Given the description of an element on the screen output the (x, y) to click on. 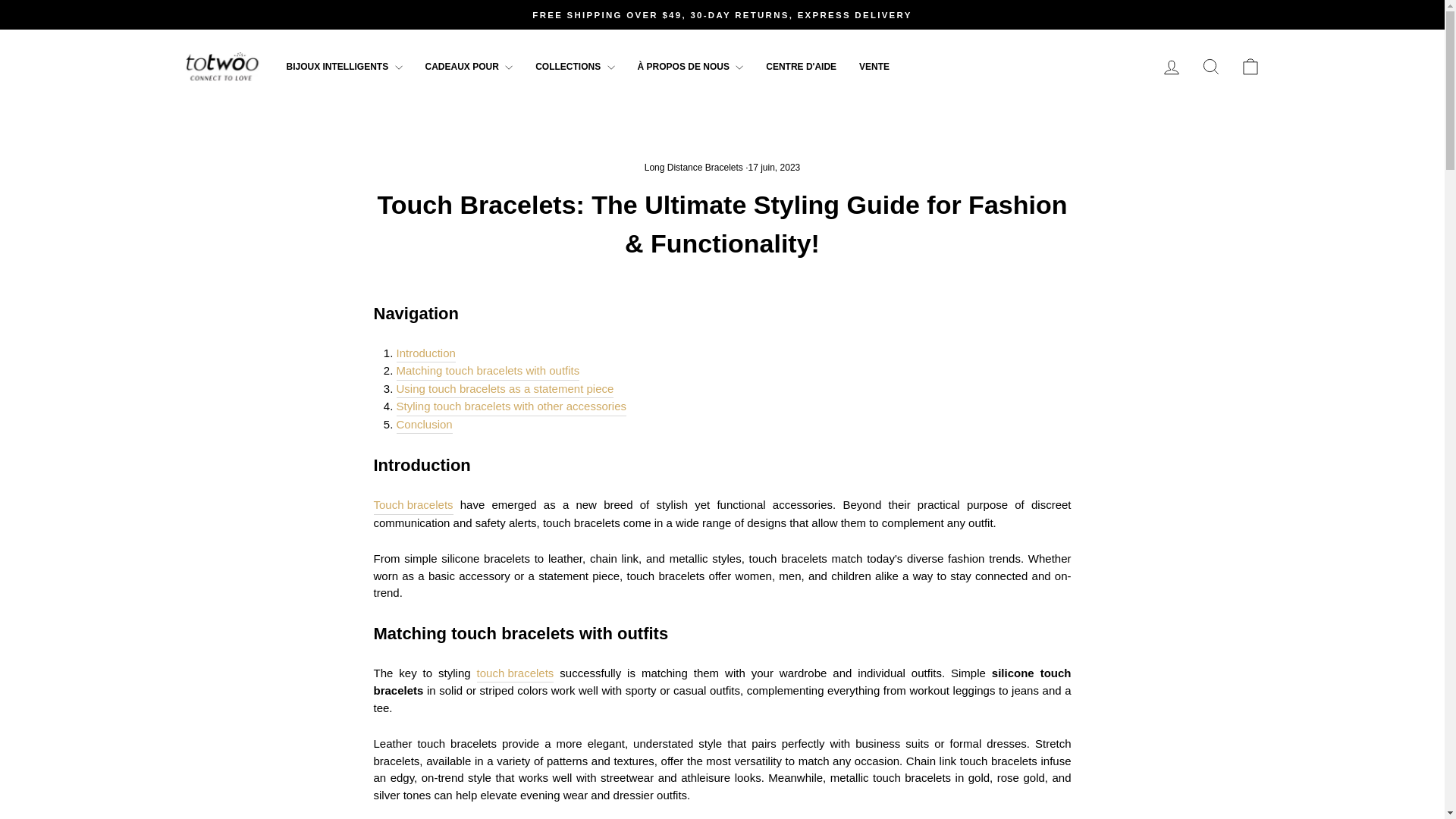
ACCOUNT (1170, 66)
Introduction (425, 353)
Using touch bracelets as a statement piece (504, 389)
Styling touch bracelets with other accessories (511, 407)
ICON-SEARCH (1210, 66)
Matching touch bracelets with outfits (487, 371)
Conclusion (423, 425)
Smart Bracelets (412, 505)
ICON-BAG-MINIMAL (1249, 66)
